Given the description of an element on the screen output the (x, y) to click on. 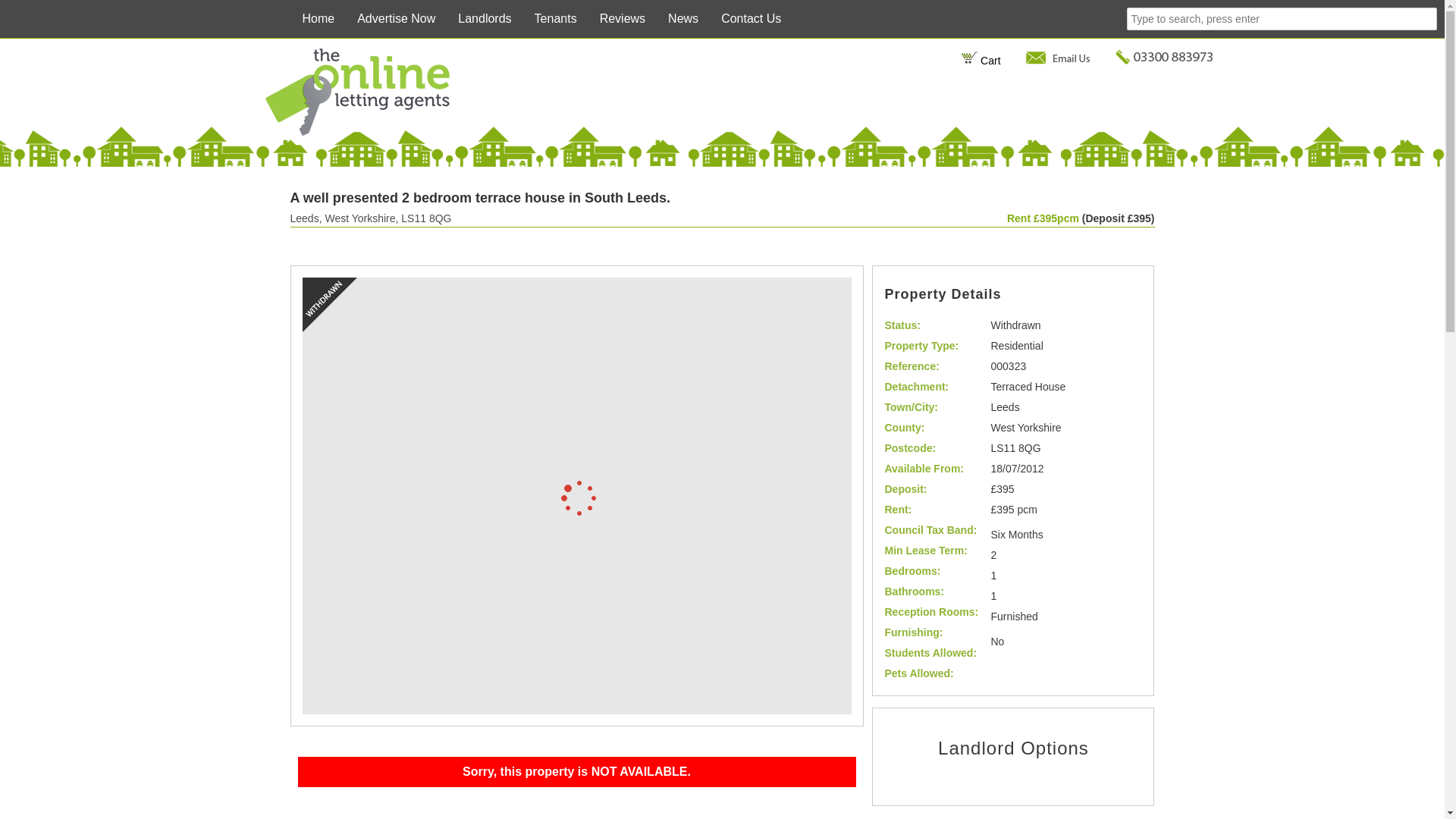
Search (23, 10)
Reviews (622, 18)
Home (317, 18)
Landlords (484, 18)
Contact Us (751, 18)
Cart (980, 60)
Advertise Now (396, 18)
Type to search, press enter (1281, 18)
News (683, 18)
Tenants (555, 18)
